Given the description of an element on the screen output the (x, y) to click on. 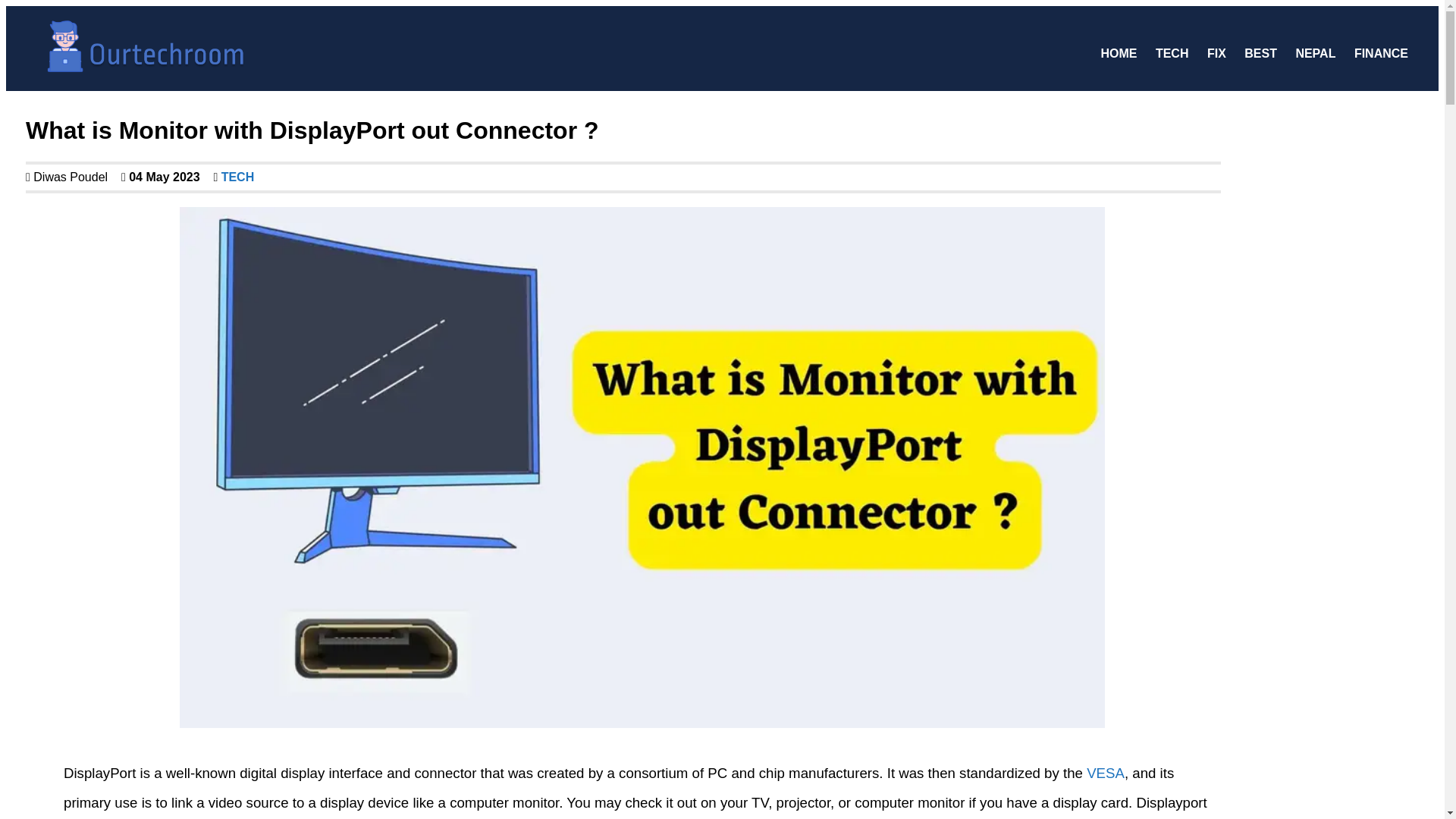
HOME (1118, 52)
TECH (234, 176)
VESA (1105, 772)
VESA (1105, 772)
BEST (1260, 52)
FIX (1216, 52)
FINANCE (1380, 52)
TECH (1172, 52)
NEPAL (1314, 52)
